Given the description of an element on the screen output the (x, y) to click on. 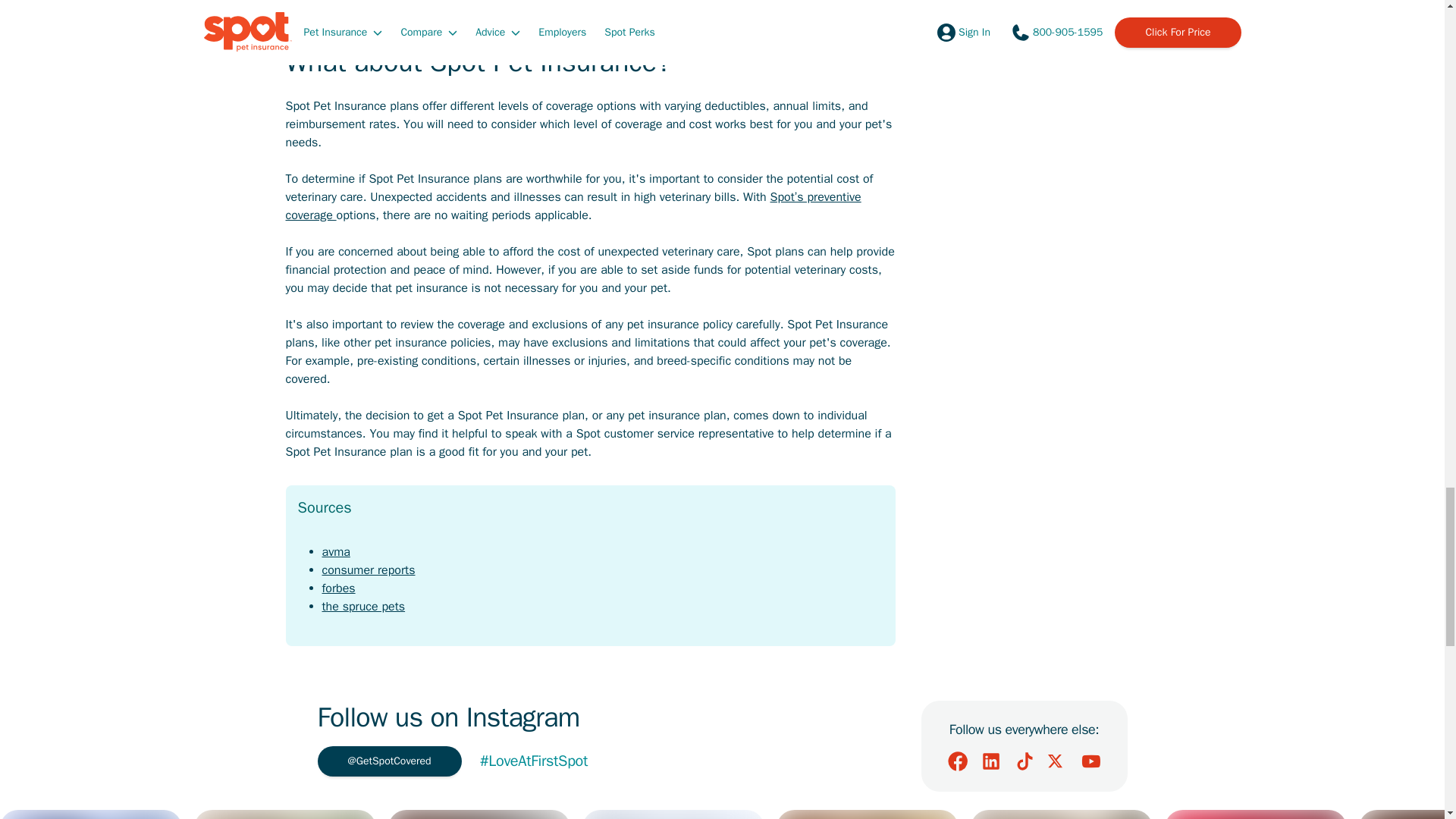
Spot on TikTok (1023, 761)
Spot on X (1056, 761)
Spot on Facebook (956, 761)
Spot on LinkedIn (990, 761)
Spot on YouTube (1090, 761)
